Given the description of an element on the screen output the (x, y) to click on. 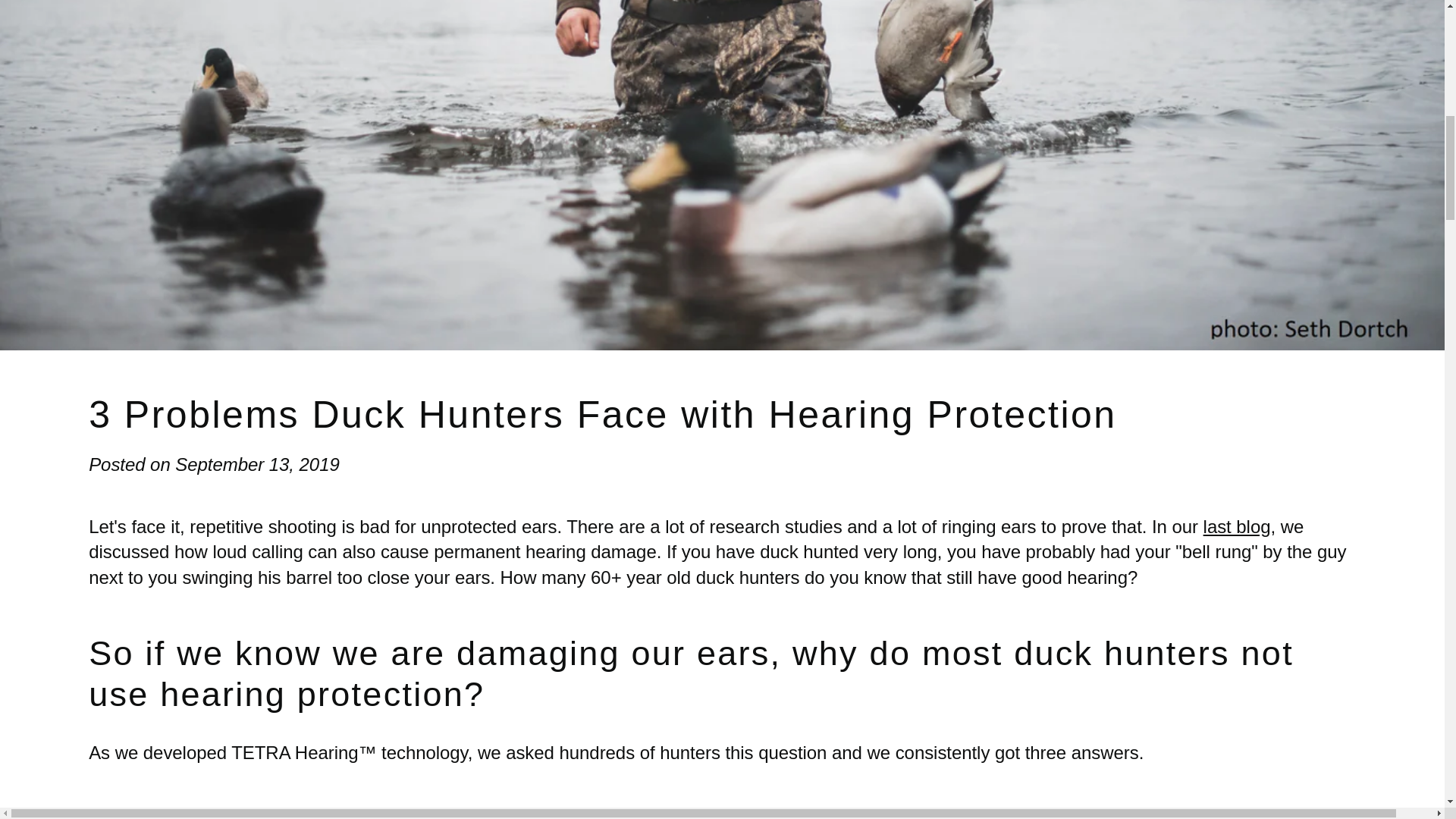
Loud Duck Calling Can Damage Your Hearing (1237, 526)
